Given the description of an element on the screen output the (x, y) to click on. 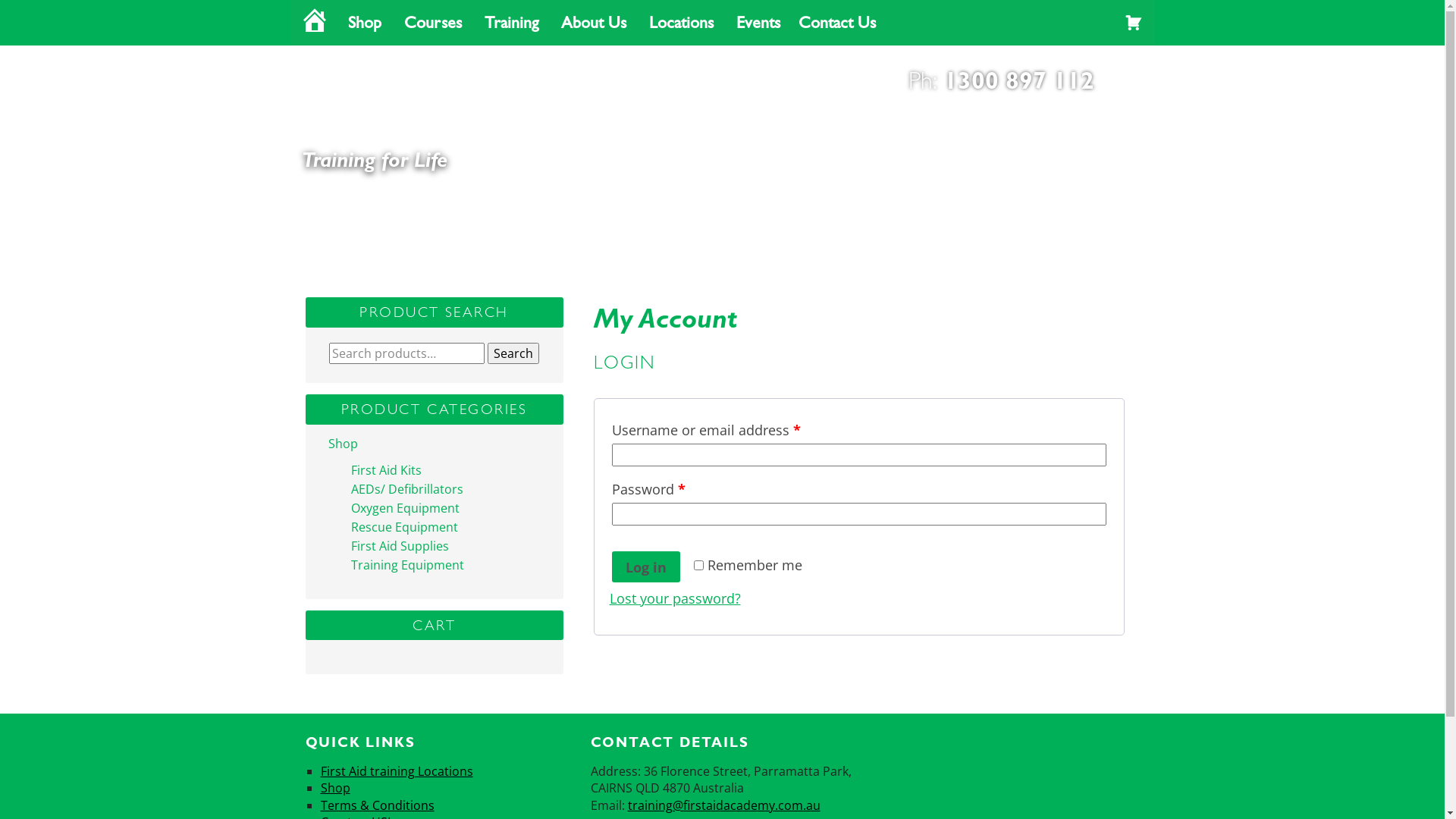
Log in Element type: text (645, 566)
1300 897 112 Element type: text (1018, 79)
Shop Element type: text (366, 22)
AEDs/ Defibrillators Element type: text (406, 488)
About Us Element type: text (596, 22)
First Aid Kits Element type: text (385, 469)
Shop Element type: text (334, 787)
Contact Us Element type: text (836, 22)
Oxygen Equipment Element type: text (404, 506)
Rescue Equipment Element type: text (403, 526)
Shop Element type: text (342, 443)
Search Element type: text (513, 353)
training@firstaidacademy.com.au Element type: text (723, 805)
First Aid Academy Element type: text (431, 95)
Lost your password? Element type: text (674, 598)
Courses Element type: text (434, 22)
Home Element type: text (313, 22)
First Aid training Locations Element type: text (396, 770)
Locations Element type: text (683, 22)
Events Element type: text (757, 22)
Training Equipment Element type: text (406, 564)
Training Element type: text (512, 22)
First Aid Supplies Element type: text (399, 544)
Terms & Conditions Element type: text (376, 805)
